Given the description of an element on the screen output the (x, y) to click on. 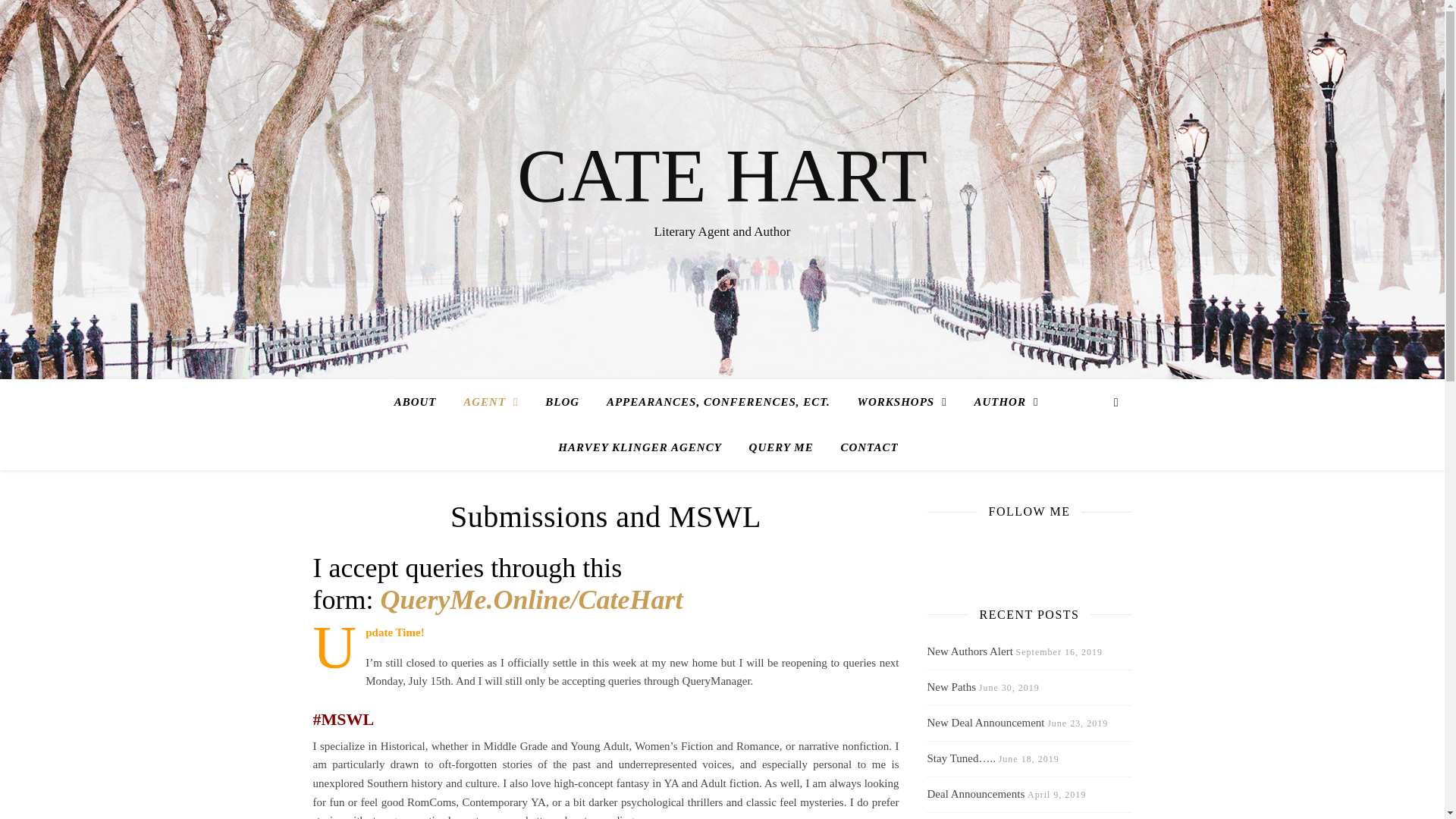
QUERY ME (780, 447)
HARVEY KLINGER AGENCY (639, 447)
AGENT (490, 402)
Facebook (938, 543)
Instagram (993, 543)
Twitter (965, 543)
BLOG (561, 402)
AUTHOR (1004, 402)
Pinterest (1020, 543)
ABOUT (421, 402)
